Given the description of an element on the screen output the (x, y) to click on. 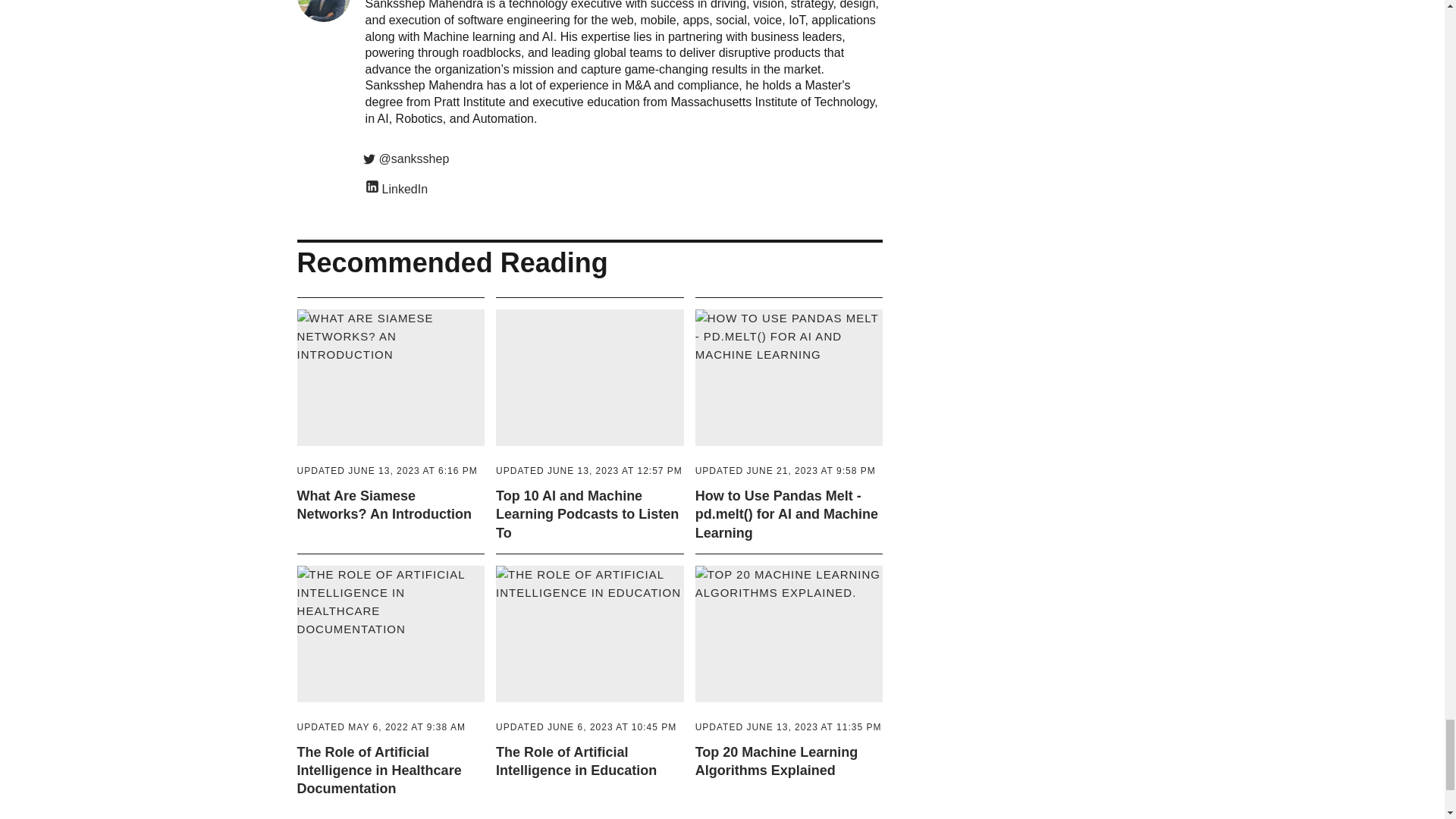
What Are Siamese Networks? An Introduction (390, 392)
View author LinkedIn profile (624, 188)
View author Twitter profile (624, 158)
Top 10 AI and Machine Learning Podcasts to Listen To (589, 470)
What Are Siamese Networks? An Introduction (387, 470)
Top 10 AI and Machine Learning Podcasts to Listen To (590, 392)
What Are Siamese Networks? An Introduction (384, 504)
Top 10 AI and Machine Learning Podcasts to Listen To (587, 514)
